Given the description of an element on the screen output the (x, y) to click on. 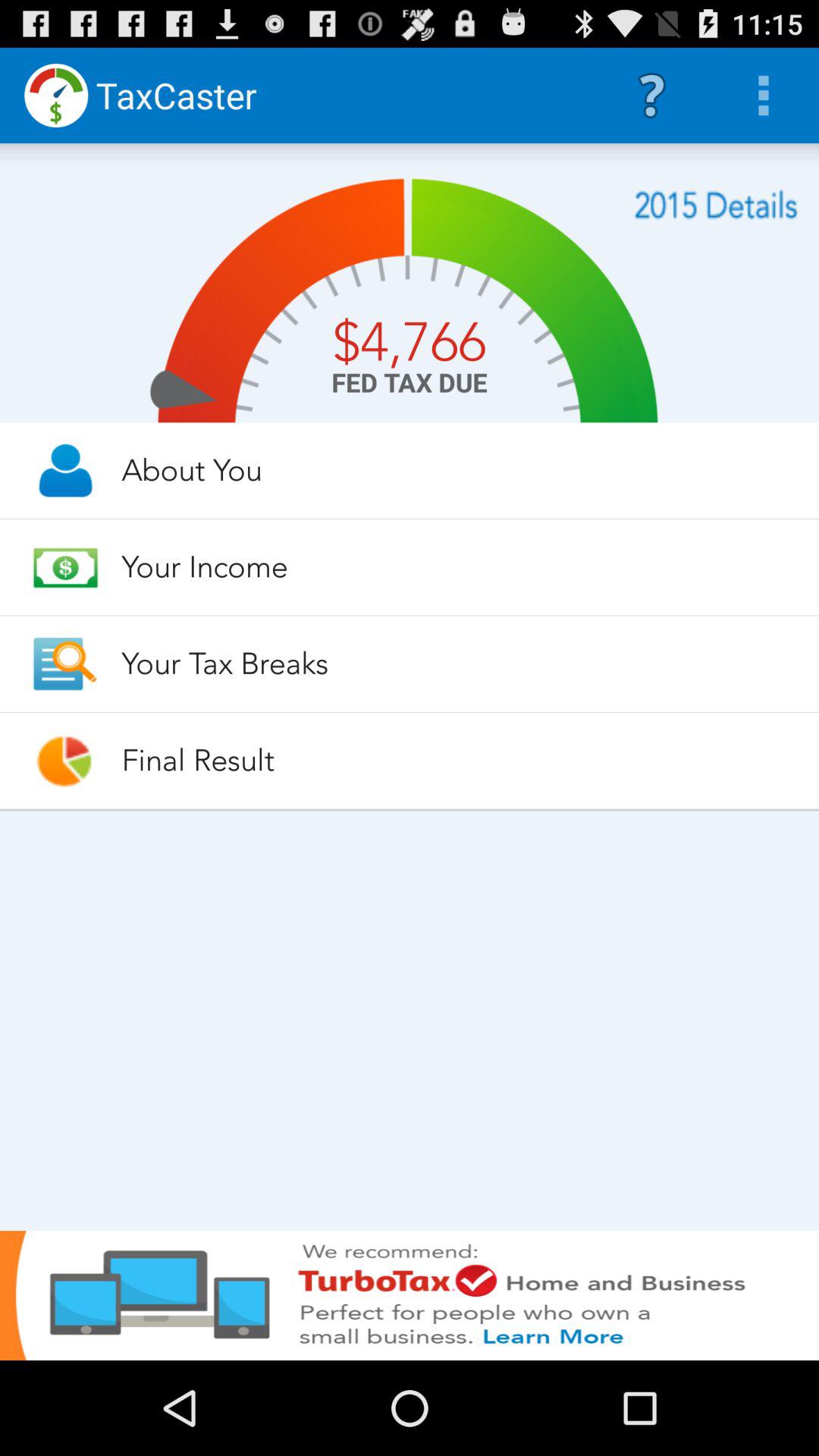
select advertisement (409, 1295)
